Given the description of an element on the screen output the (x, y) to click on. 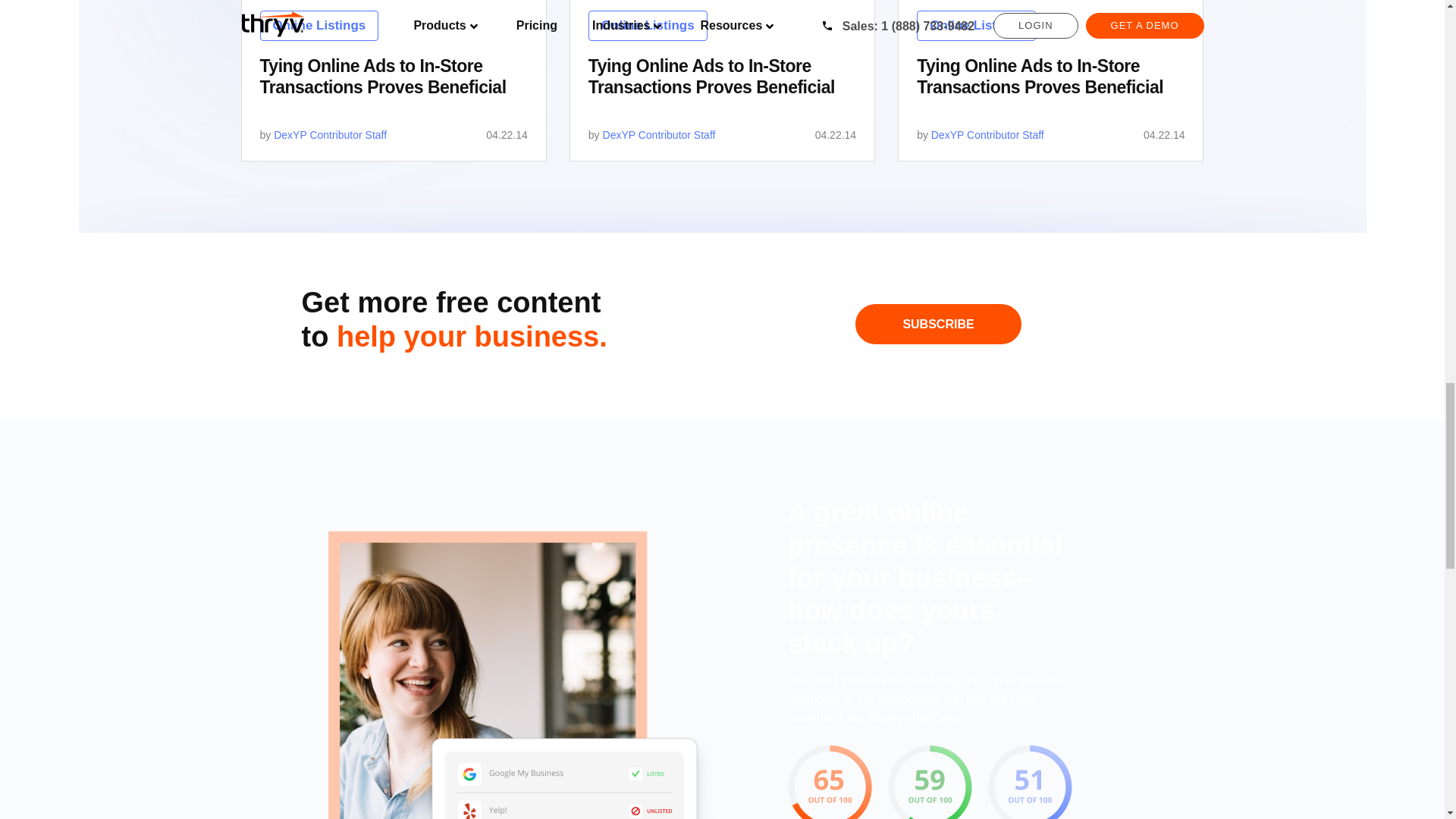
Posts by DexYP Contributor Staff (330, 134)
Posts by DexYP Contributor Staff (659, 134)
Posts by DexYP Contributor Staff (987, 134)
